Given the description of an element on the screen output the (x, y) to click on. 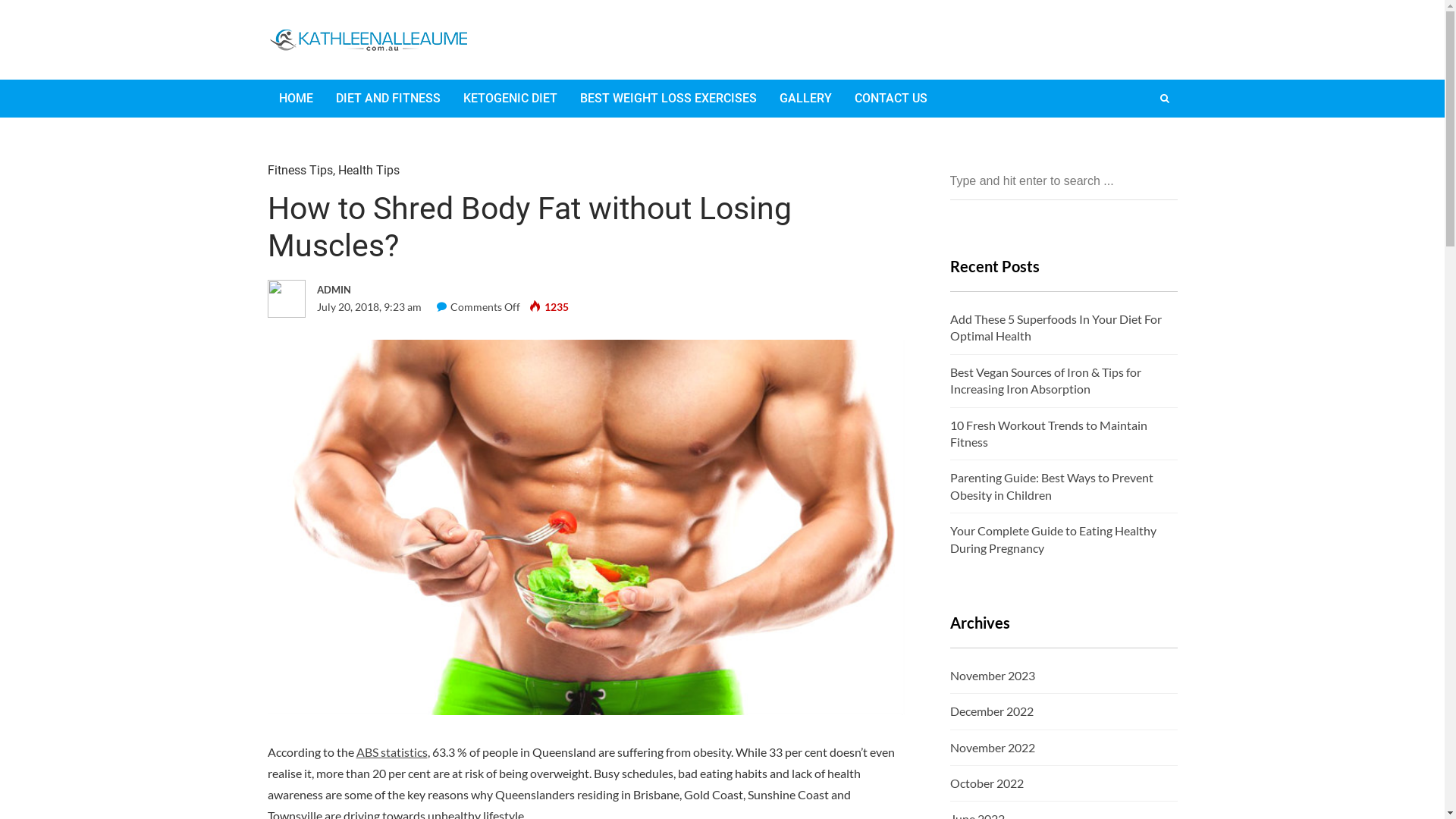
Add These 5 Superfoods In Your Diet For Optimal Health Element type: text (1055, 326)
CONTACT US Element type: text (890, 98)
ABS statistics Element type: text (391, 751)
October 2022 Element type: text (985, 783)
Your Complete Guide to Eating Healthy During Pregnancy Element type: text (1052, 538)
December 2022 Element type: text (990, 710)
KETOGENIC DIET Element type: text (509, 98)
HOME Element type: text (294, 98)
DIET AND FITNESS Element type: text (387, 98)
Health Tips Element type: text (368, 170)
10 Fresh Workout Trends to Maintain Fitness Element type: text (1047, 432)
Fitness Tips Element type: text (299, 170)
November 2022 Element type: text (991, 747)
November 2023 Element type: text (991, 675)
BEST WEIGHT LOSS EXERCISES Element type: text (668, 98)
ADMIN Element type: text (422, 289)
GALLERY Element type: text (804, 98)
Parenting Guide: Best Ways to Prevent Obesity in Children Element type: text (1050, 485)
